Given the description of an element on the screen output the (x, y) to click on. 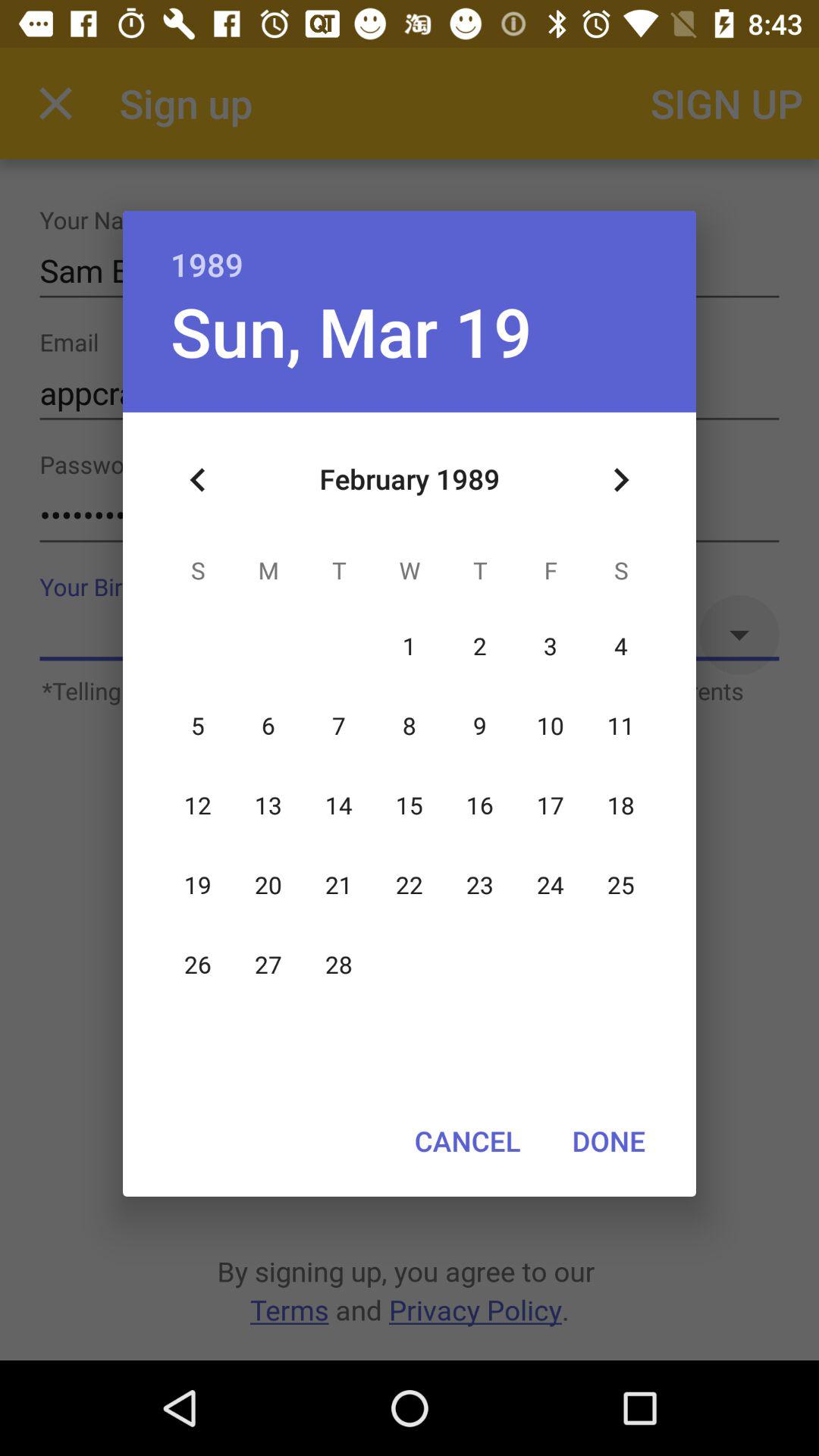
press icon next to done item (467, 1140)
